Given the description of an element on the screen output the (x, y) to click on. 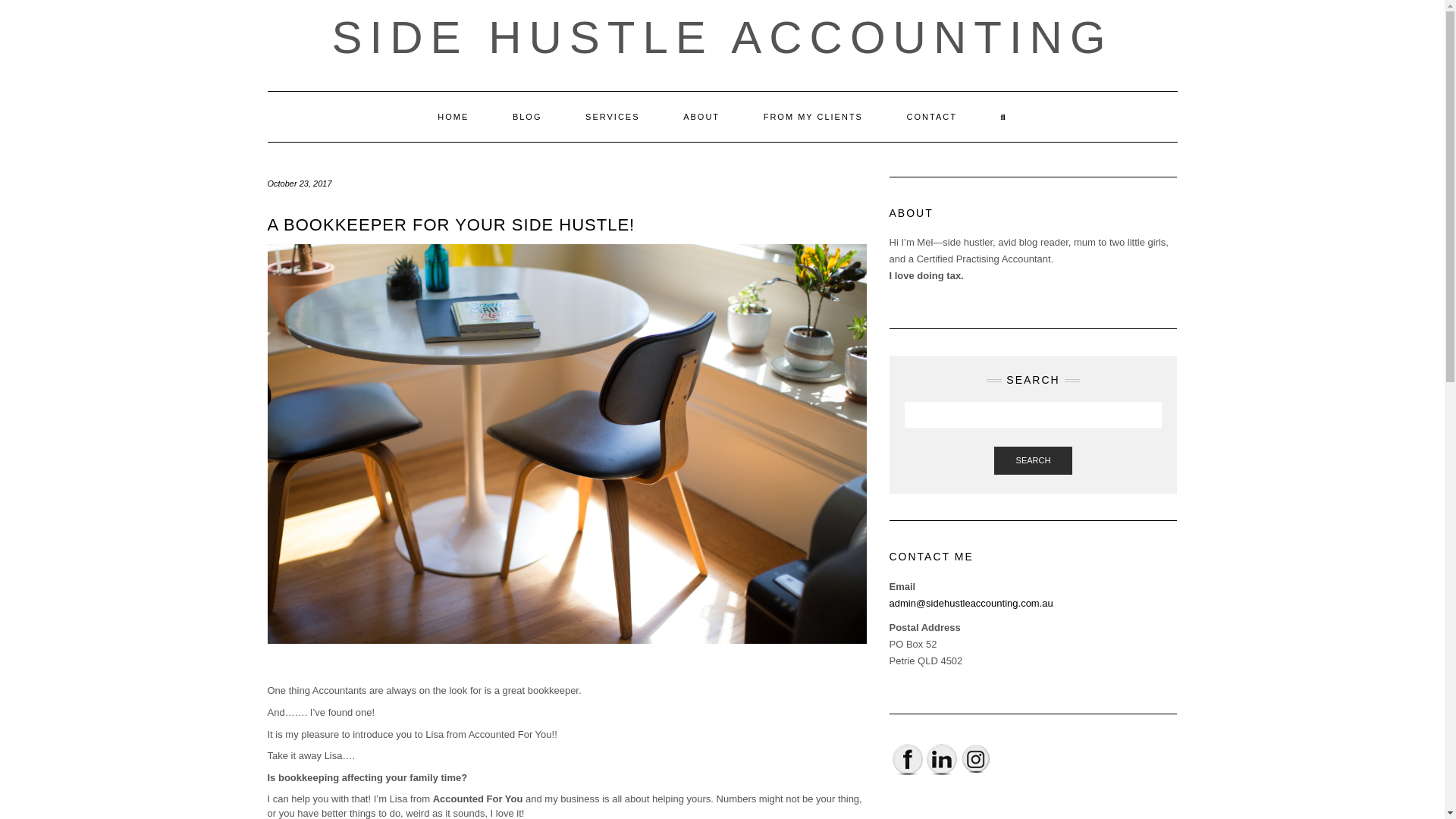
SEARCH (1033, 460)
LinkedIn (941, 758)
Facebook (906, 758)
SERVICES (611, 116)
ABOUT (700, 116)
BLOG (527, 116)
CONTACT (931, 116)
FROM MY CLIENTS (812, 116)
HOME (452, 116)
SIDE HUSTLE ACCOUNTING (721, 37)
